Given the description of an element on the screen output the (x, y) to click on. 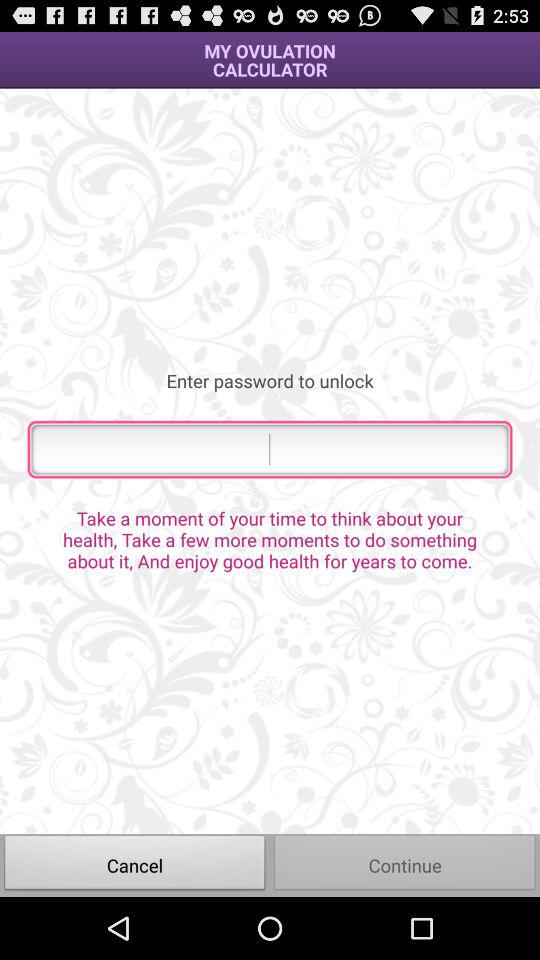
enter password (269, 449)
